Given the description of an element on the screen output the (x, y) to click on. 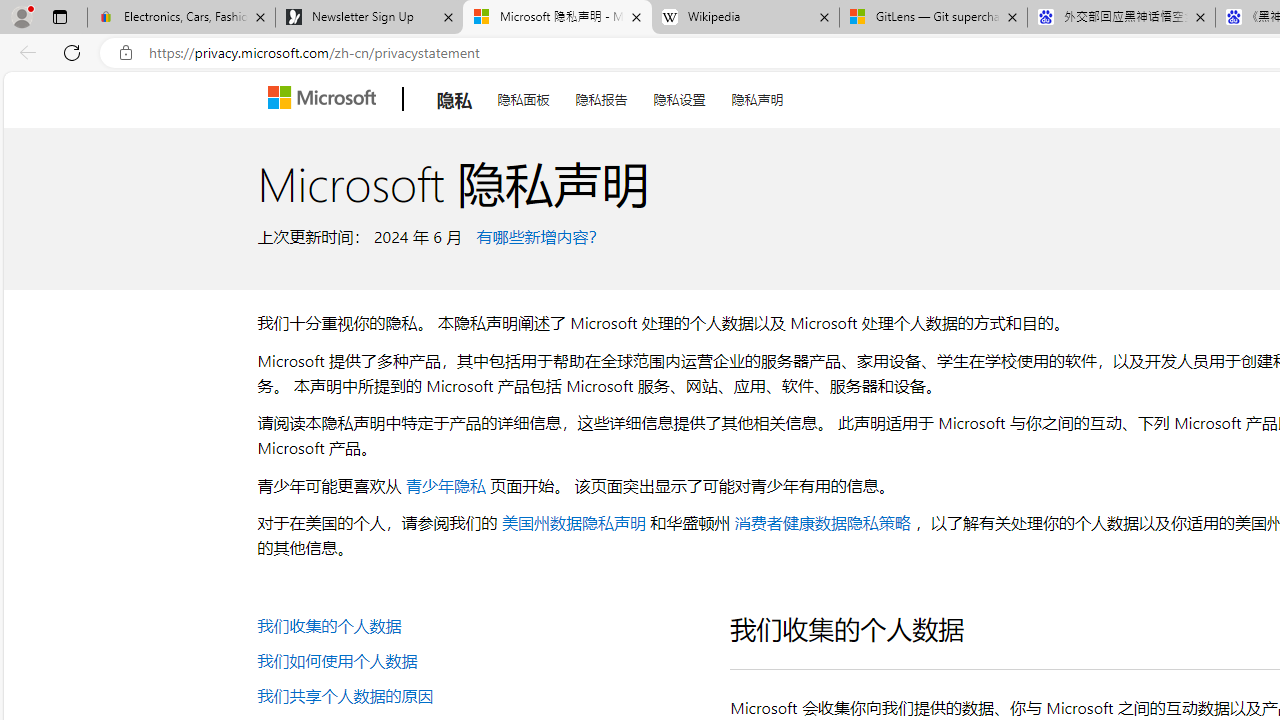
Newsletter Sign Up (369, 17)
